Given the description of an element on the screen output the (x, y) to click on. 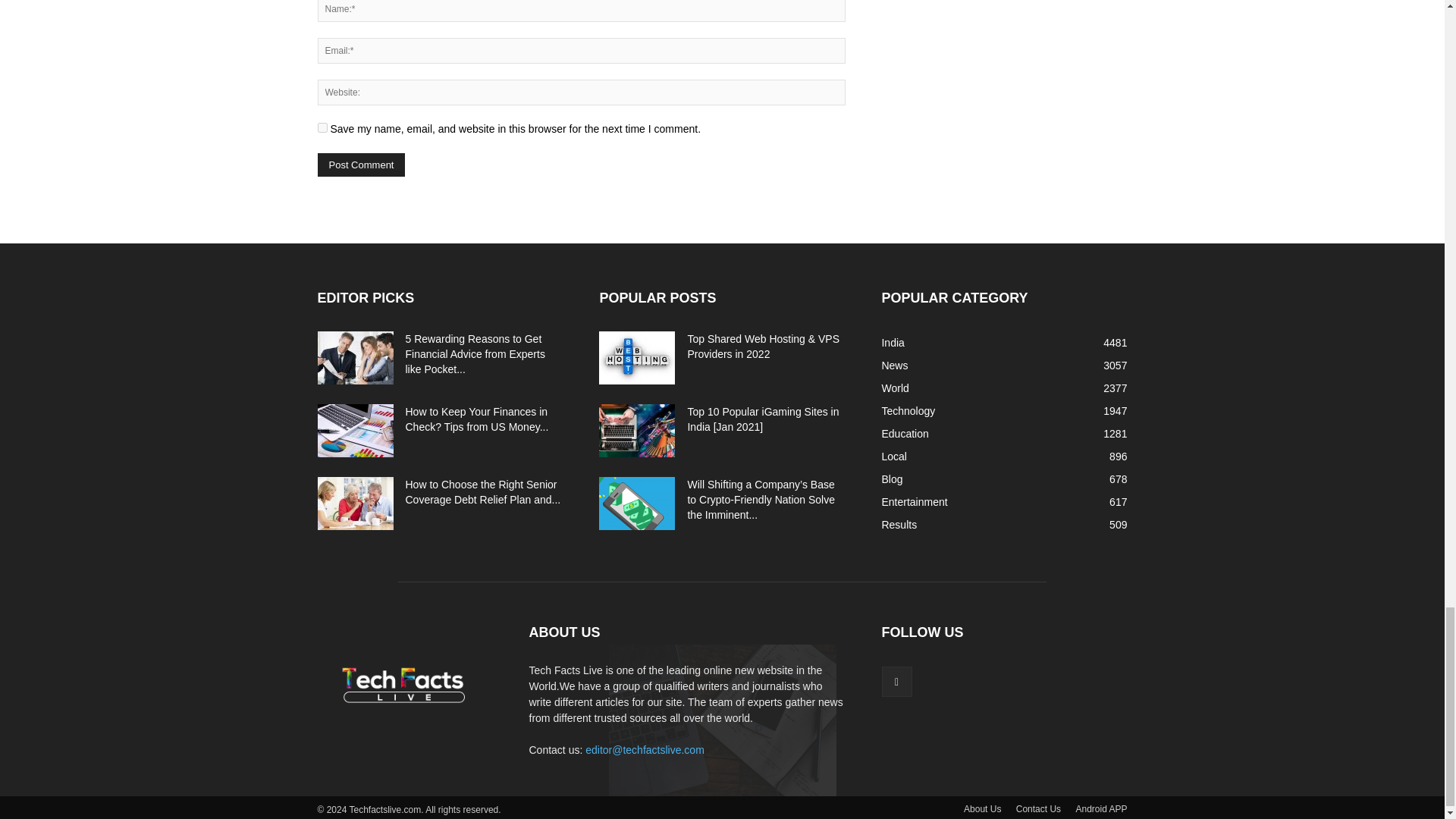
Post Comment (360, 164)
yes (321, 127)
